Given the description of an element on the screen output the (x, y) to click on. 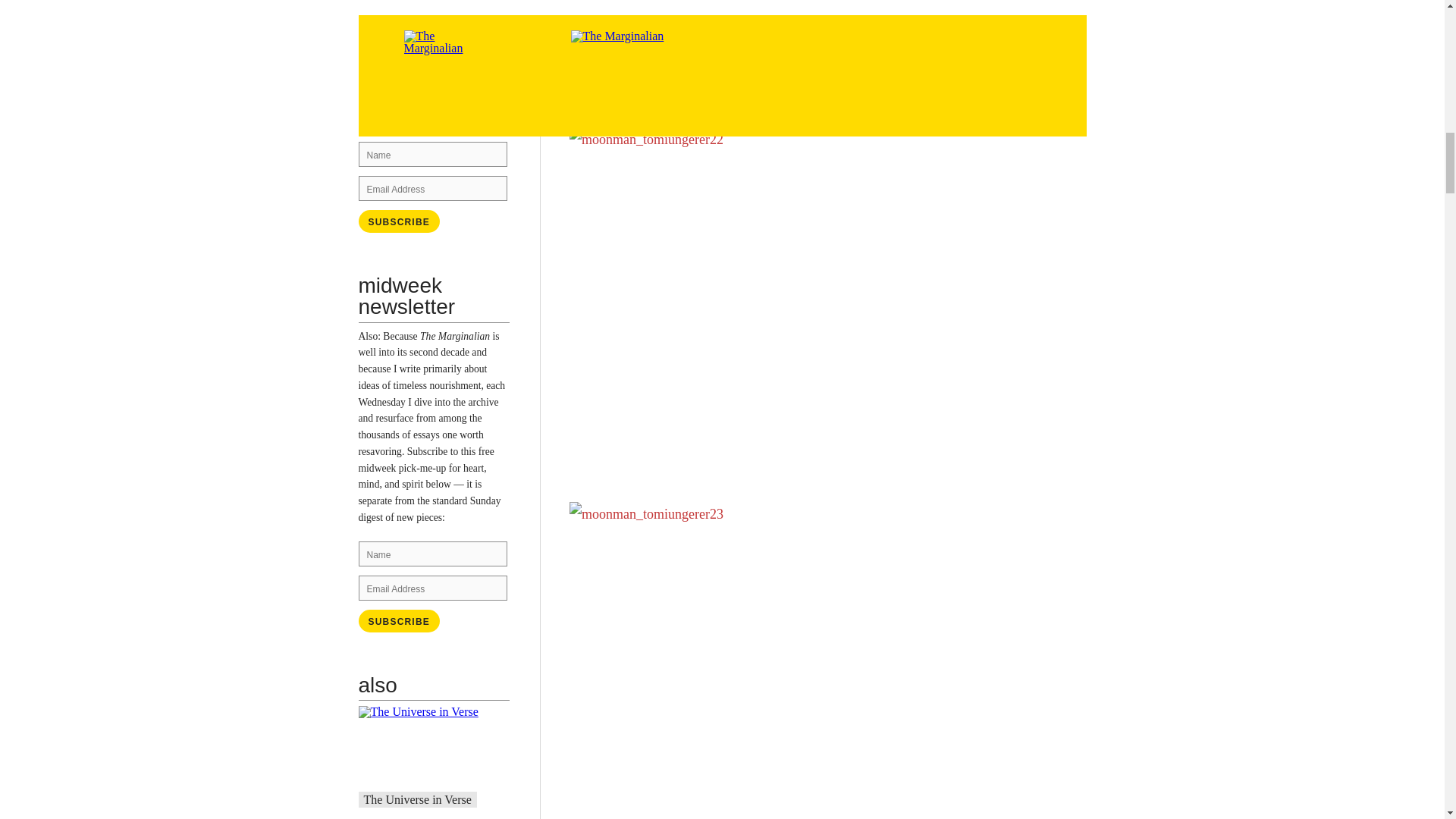
Subscribe (398, 620)
Subscribe (398, 620)
Subscribe (398, 220)
The Universe in Verse (417, 799)
example (449, 101)
Subscribe (398, 220)
